Given the description of an element on the screen output the (x, y) to click on. 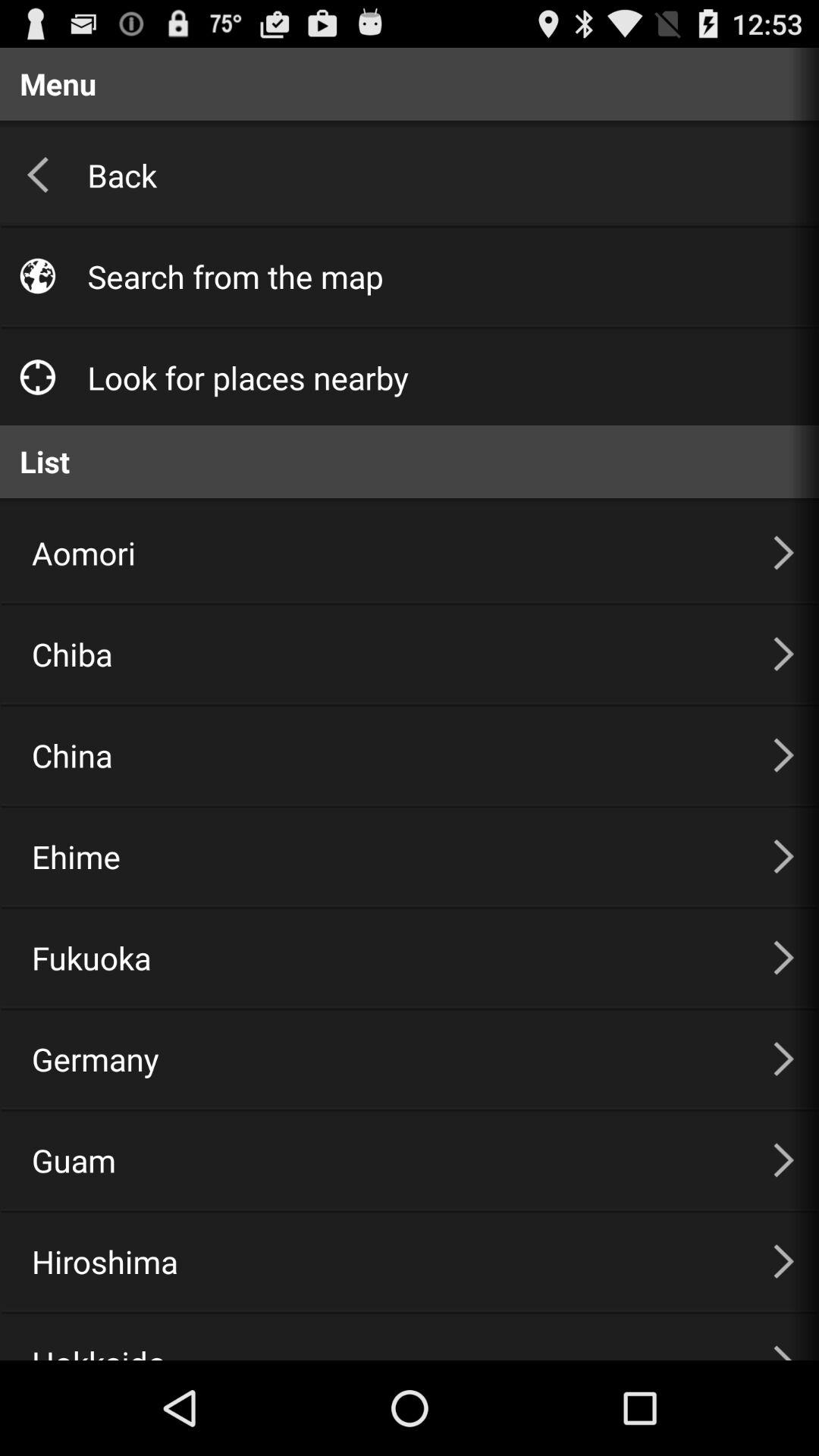
choose the item above the ehime item (384, 755)
